Given the description of an element on the screen output the (x, y) to click on. 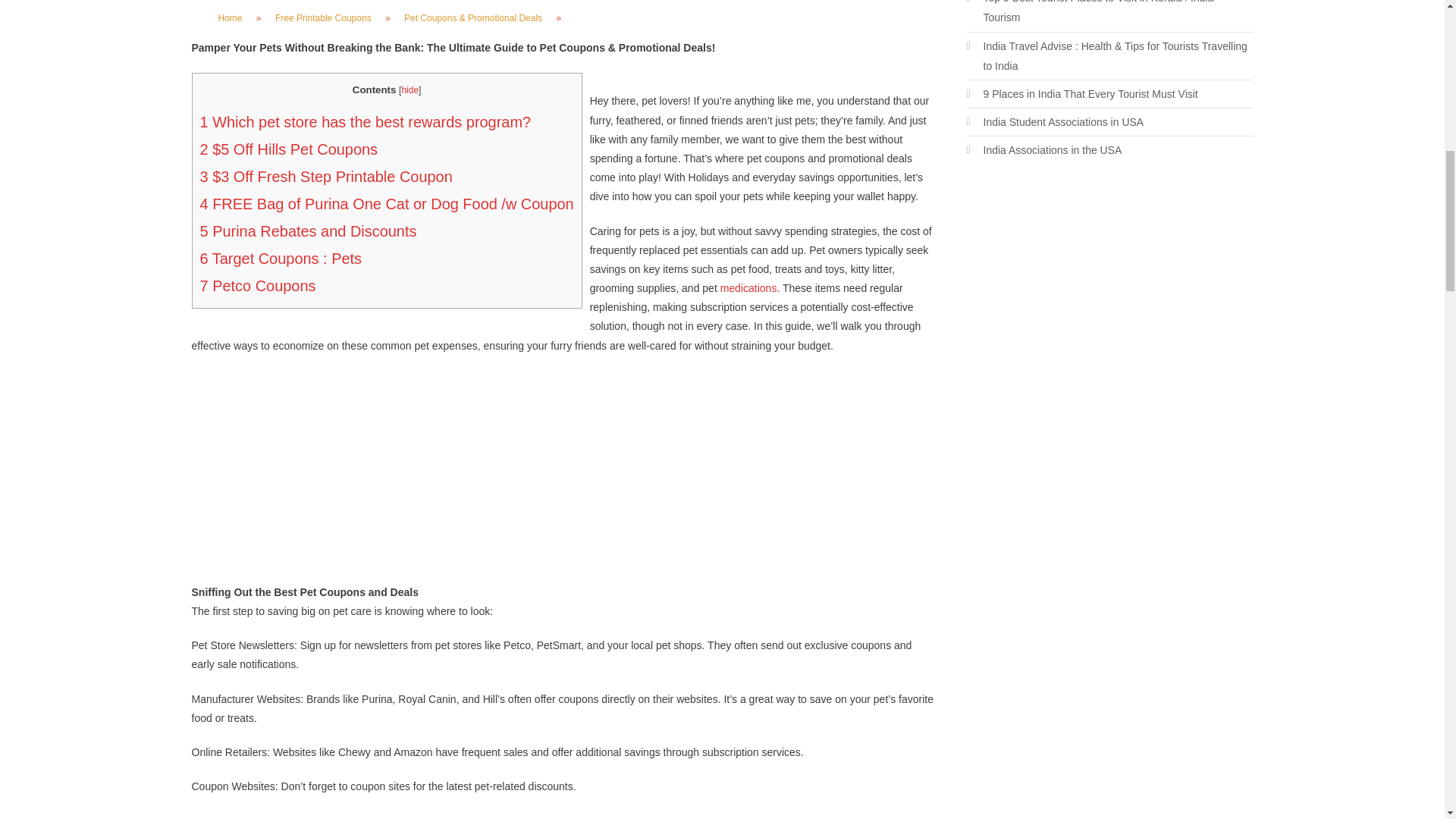
Advertisement (1109, 300)
Home (230, 17)
Free Printable Coupons (322, 17)
Print Free Over the Counter Meds Coupons (748, 287)
